Given the description of an element on the screen output the (x, y) to click on. 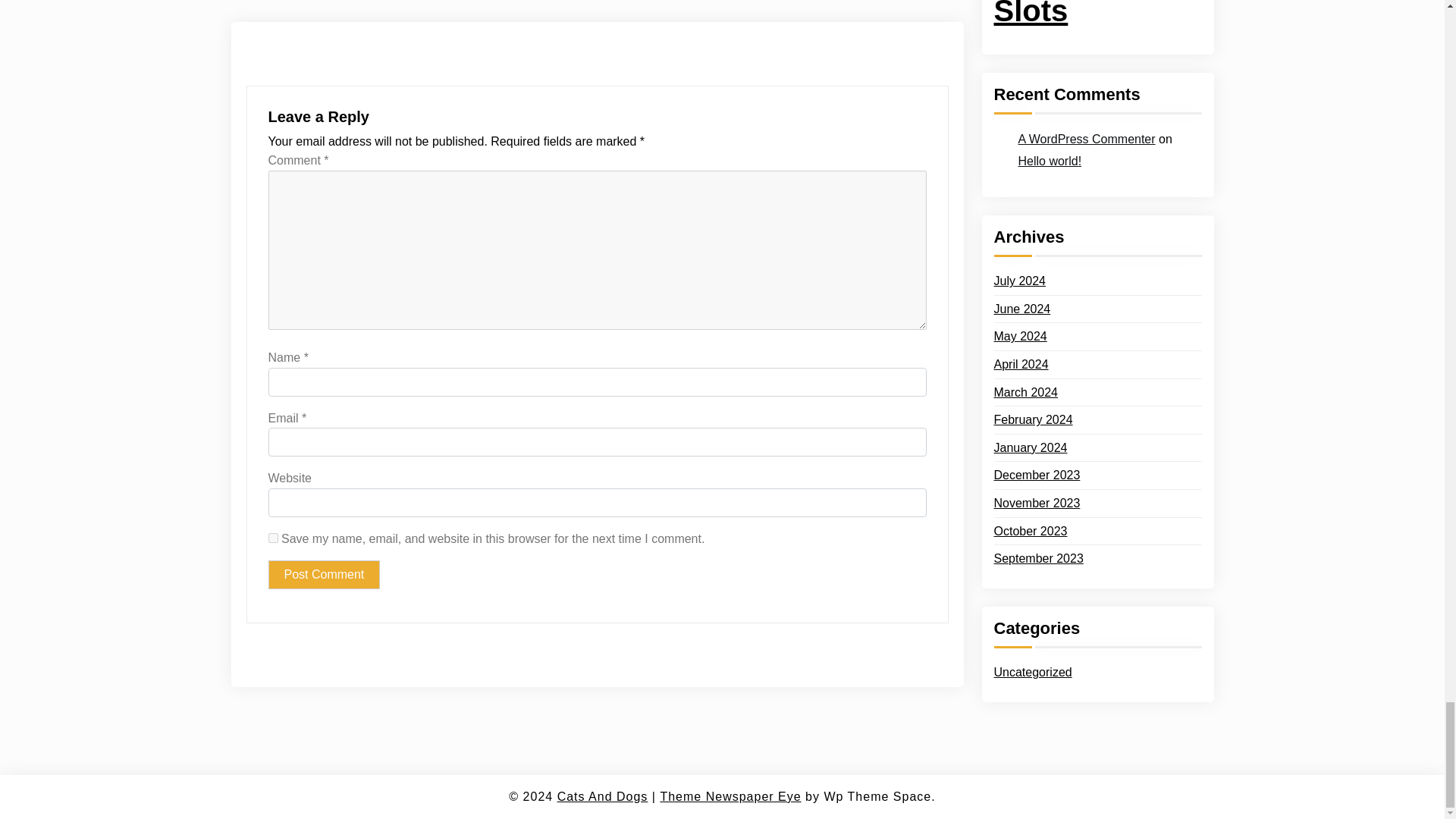
yes (272, 537)
Post Comment (323, 574)
